Given the description of an element on the screen output the (x, y) to click on. 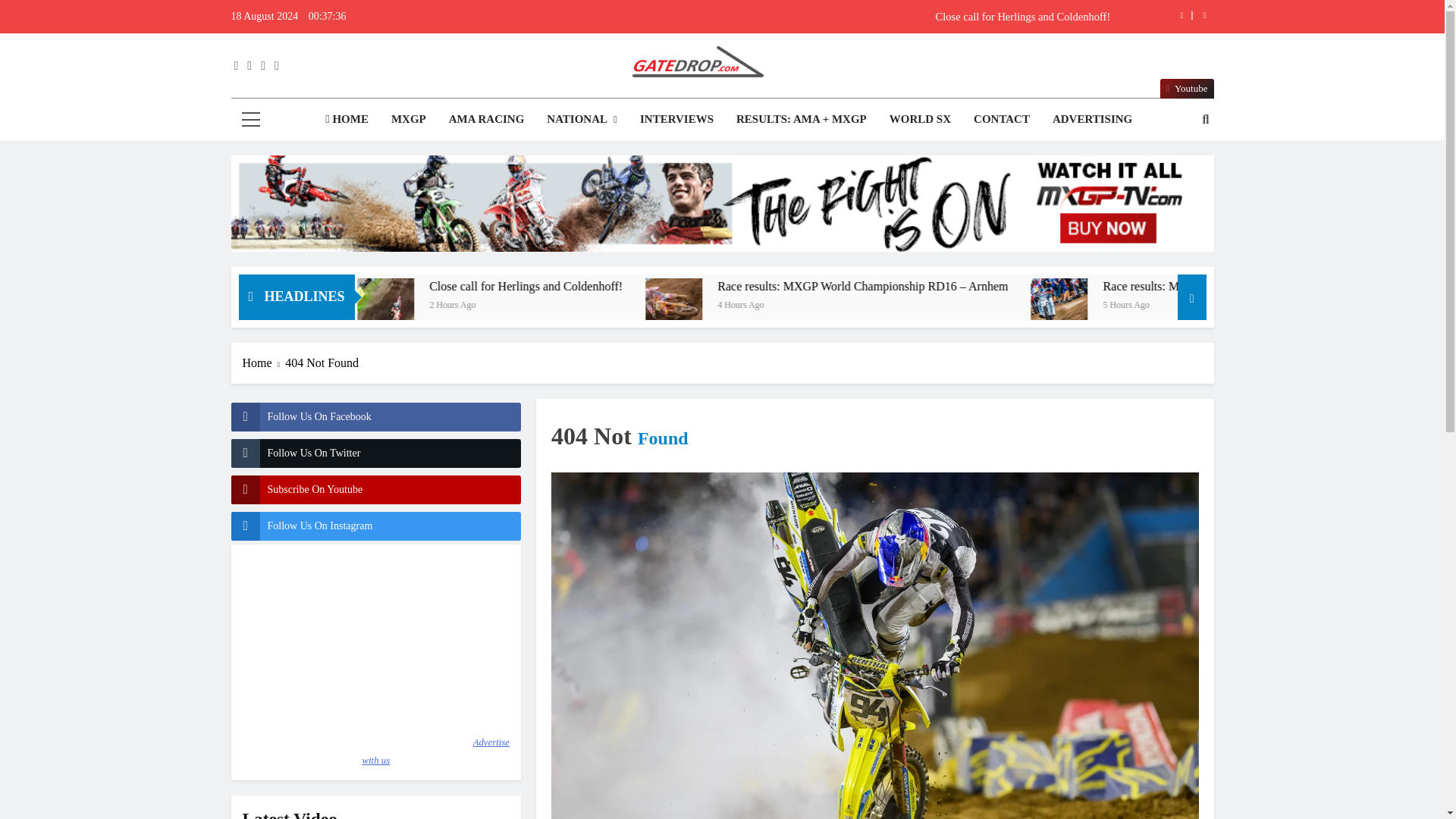
Close call for Herlings and Coldenhoff! (817, 16)
Close call for Herlings and Coldenhoff! (817, 16)
GateDrop.Com (542, 109)
